Given the description of an element on the screen output the (x, y) to click on. 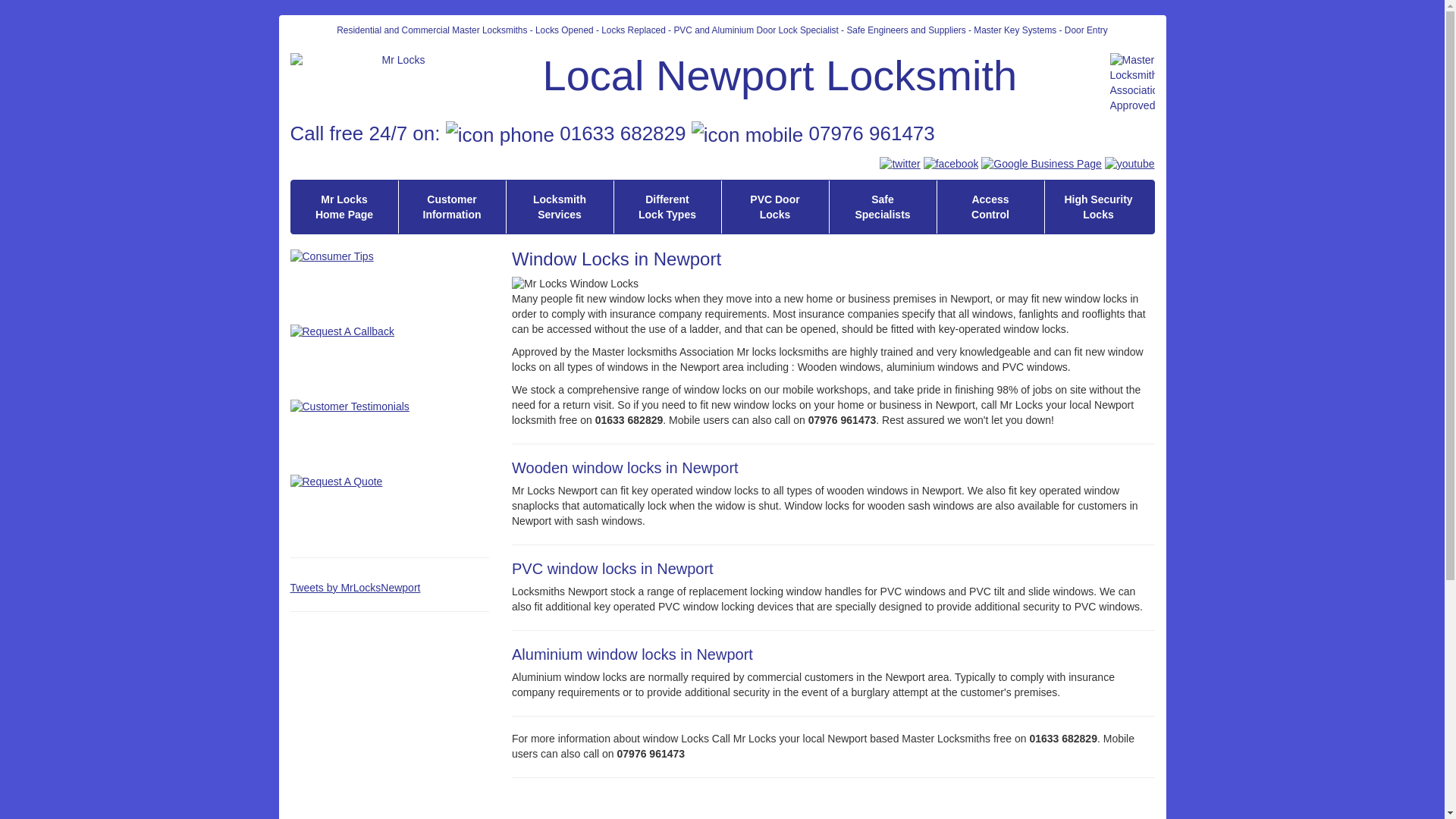
Mr Locks Window Locks (833, 283)
Request a Callback from Mr Locks Ltd (775, 206)
Link to Mr Locks Newport locksmith Facebook page (344, 206)
07976 961473 (559, 206)
Link to Mr Locks Newport locksmith YouTube page (365, 358)
Link to Mr Locks Newport locksmith Google Business page (950, 164)
